Given the description of an element on the screen output the (x, y) to click on. 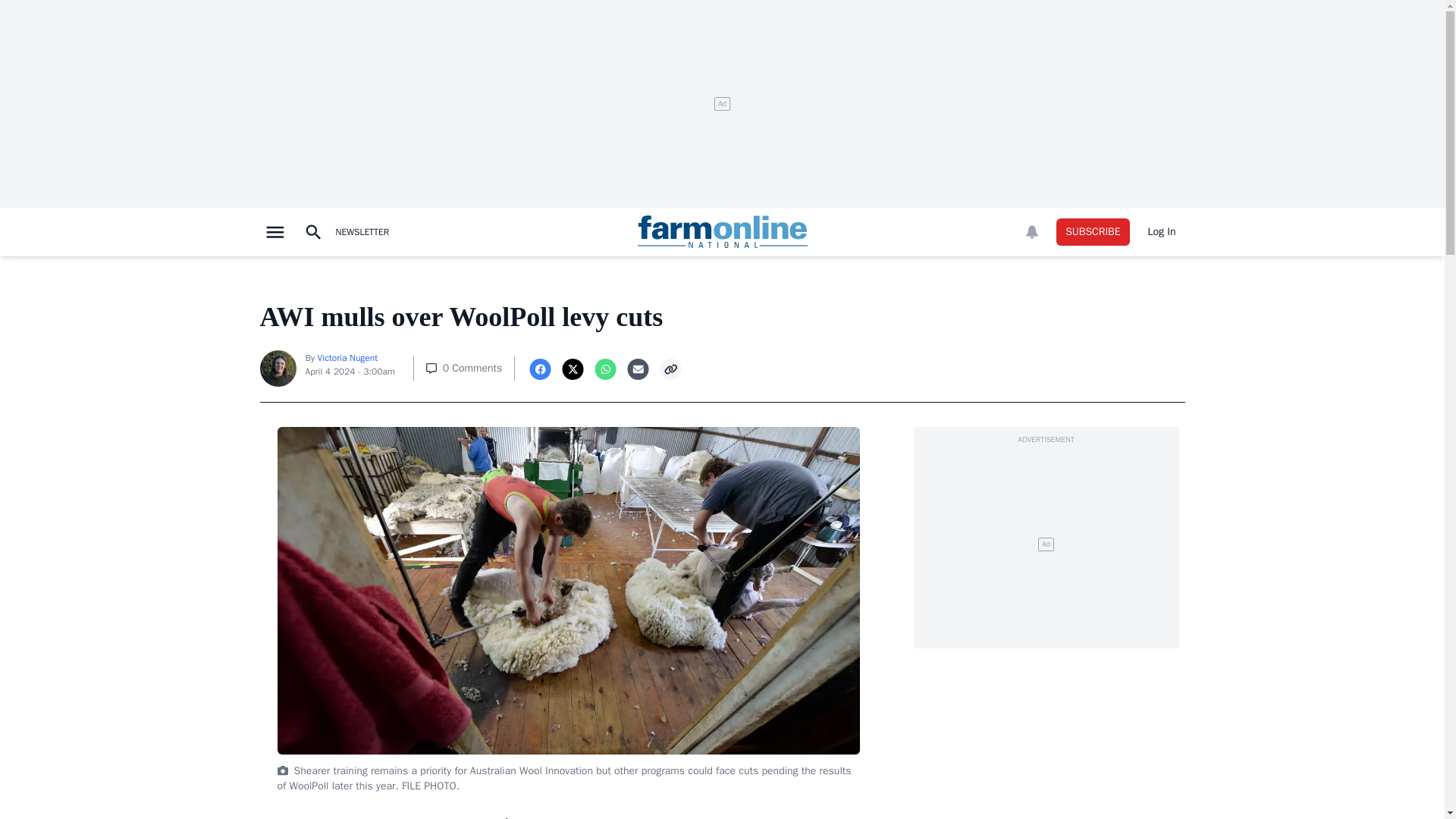
NEWSLETTER (361, 232)
Log In (1161, 231)
SUBSCRIBE (1093, 231)
